Given the description of an element on the screen output the (x, y) to click on. 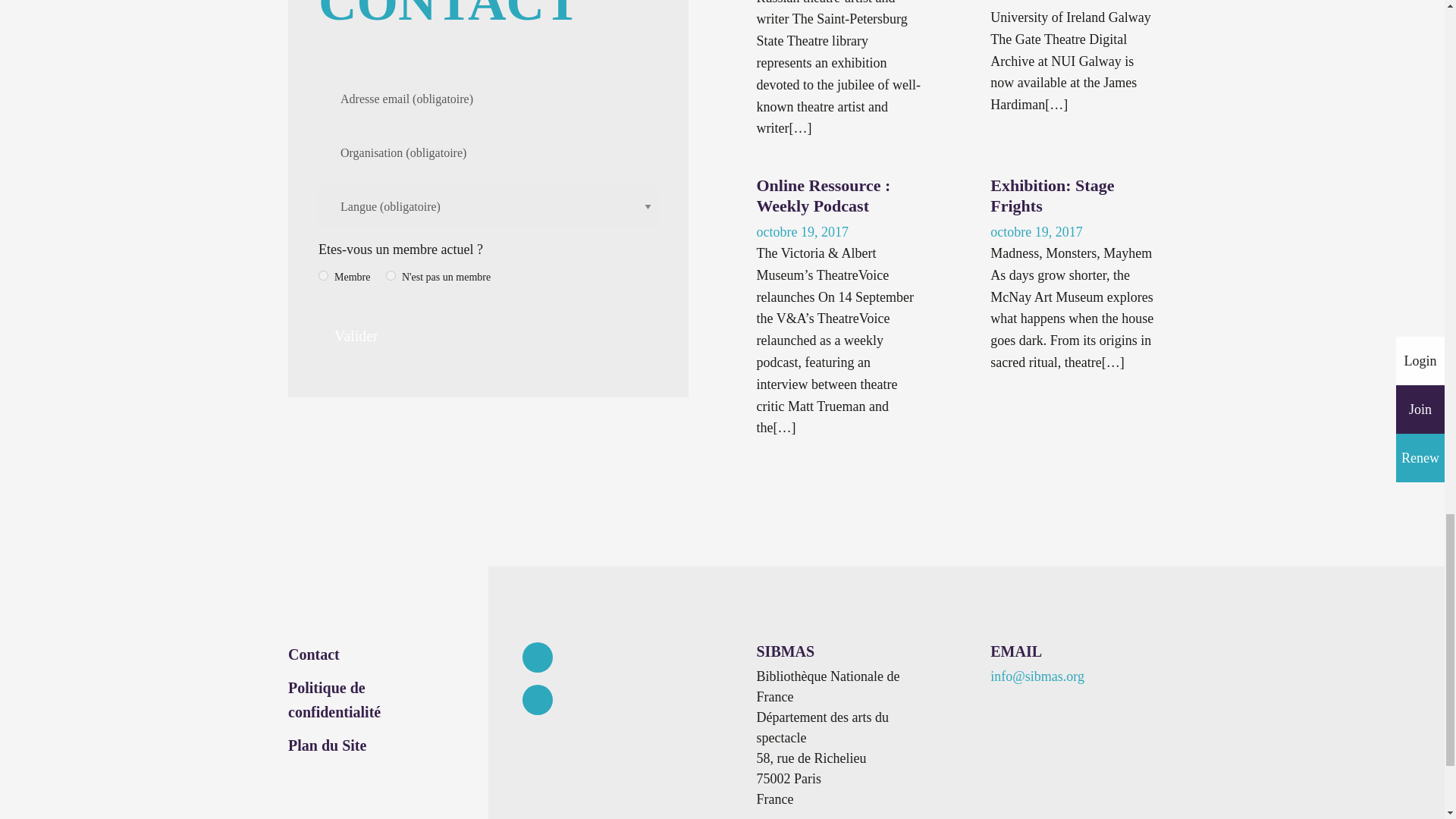
Not Member (390, 275)
Valider (356, 336)
Member (323, 275)
